Given the description of an element on the screen output the (x, y) to click on. 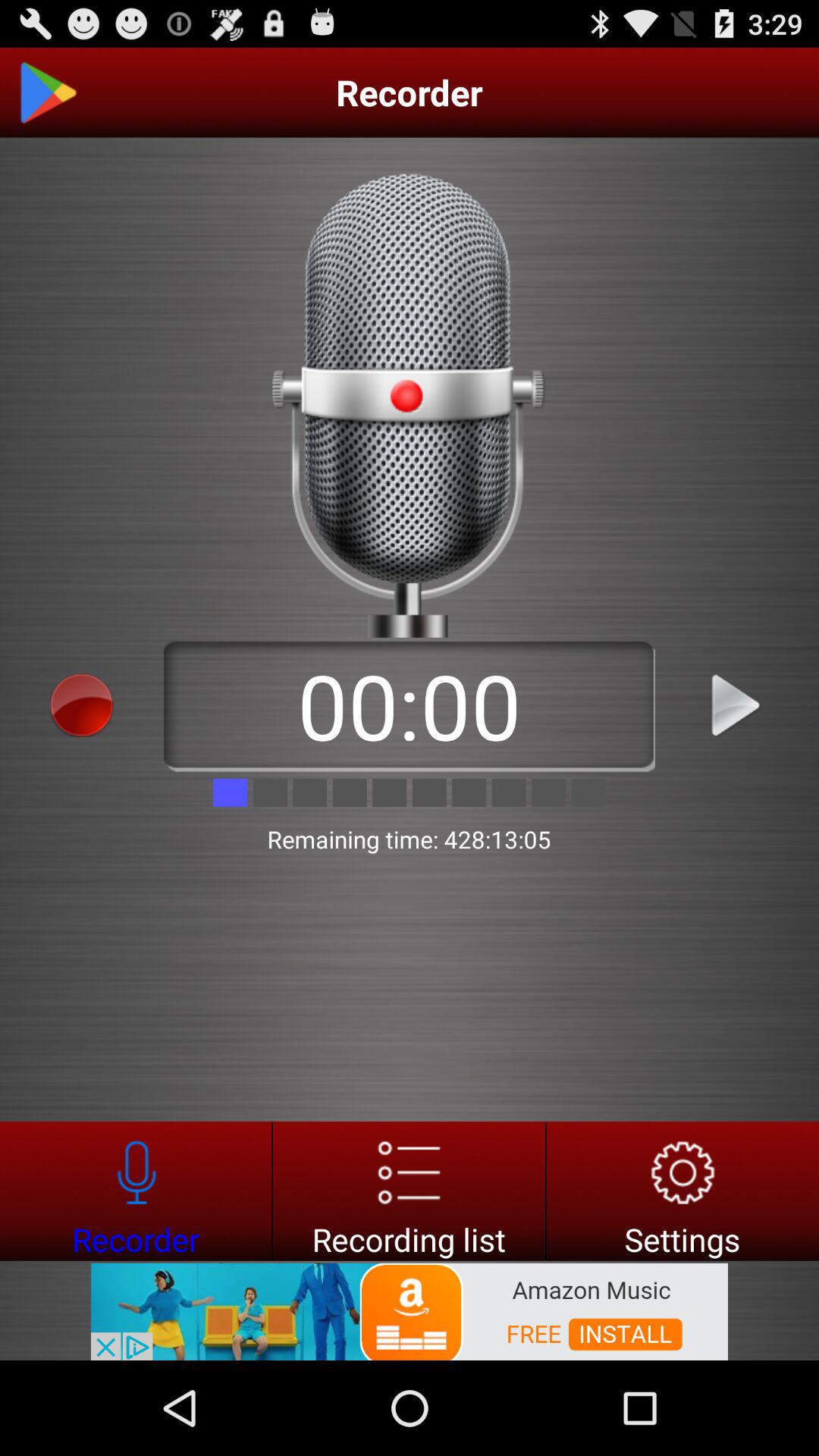
play recording (737, 705)
